Given the description of an element on the screen output the (x, y) to click on. 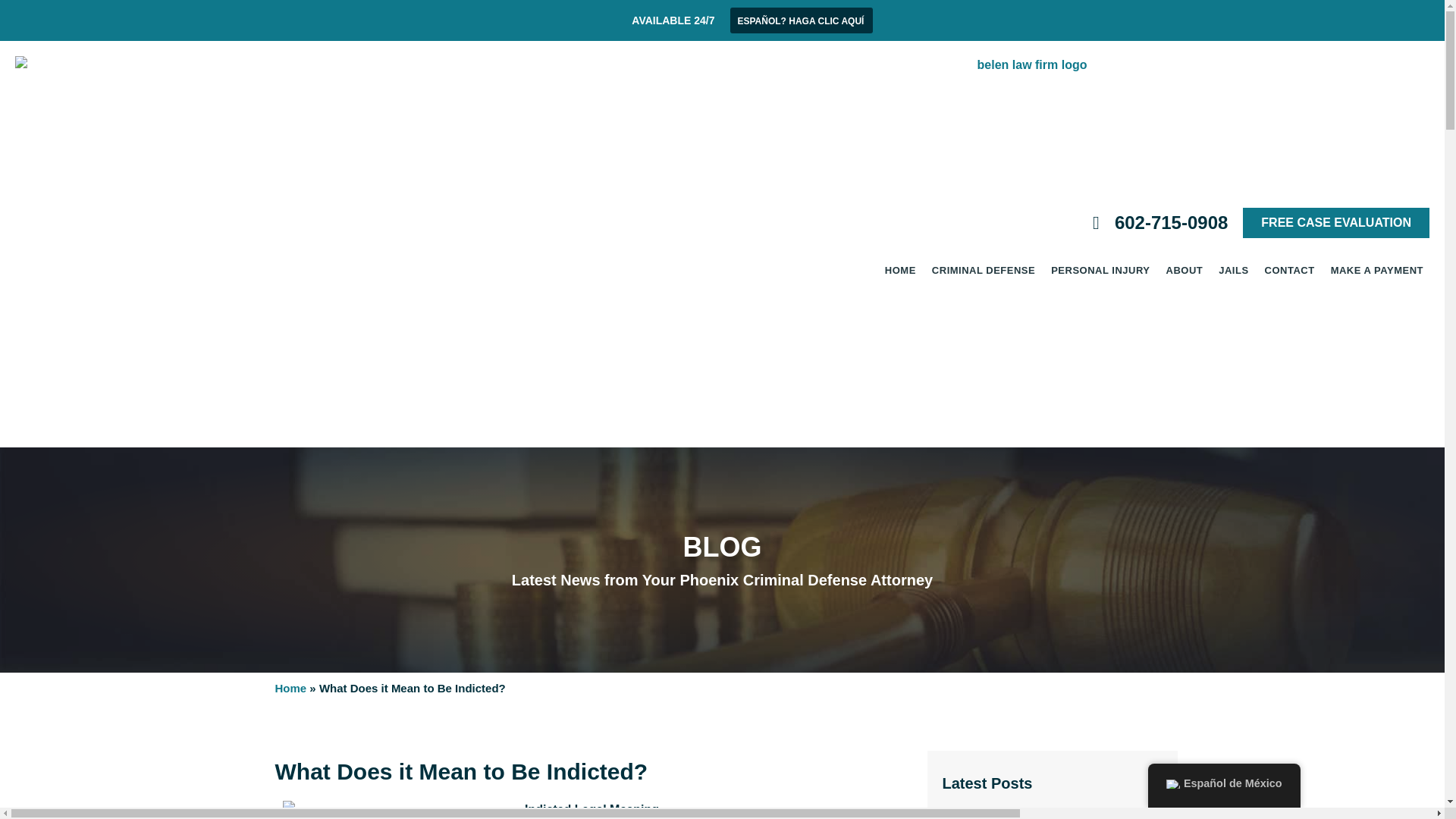
CRIMINAL DEFENSE (983, 270)
FREE CASE EVALUATION (1336, 223)
HOME (900, 270)
602-715-0908 (1152, 222)
